Given the description of an element on the screen output the (x, y) to click on. 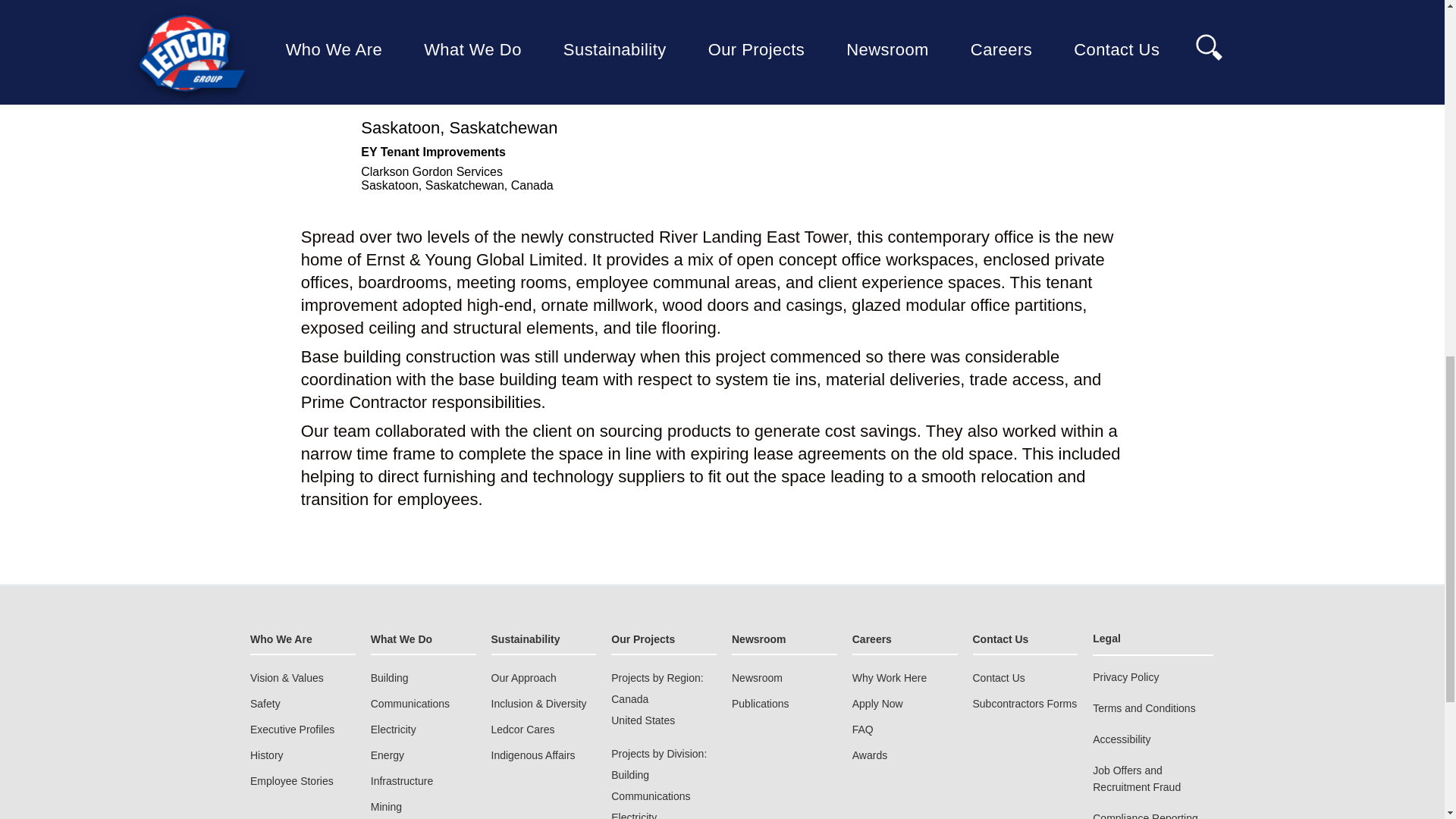
EY Tenant Improvements (541, 50)
Compliance Reporting (1145, 814)
